Given the description of an element on the screen output the (x, y) to click on. 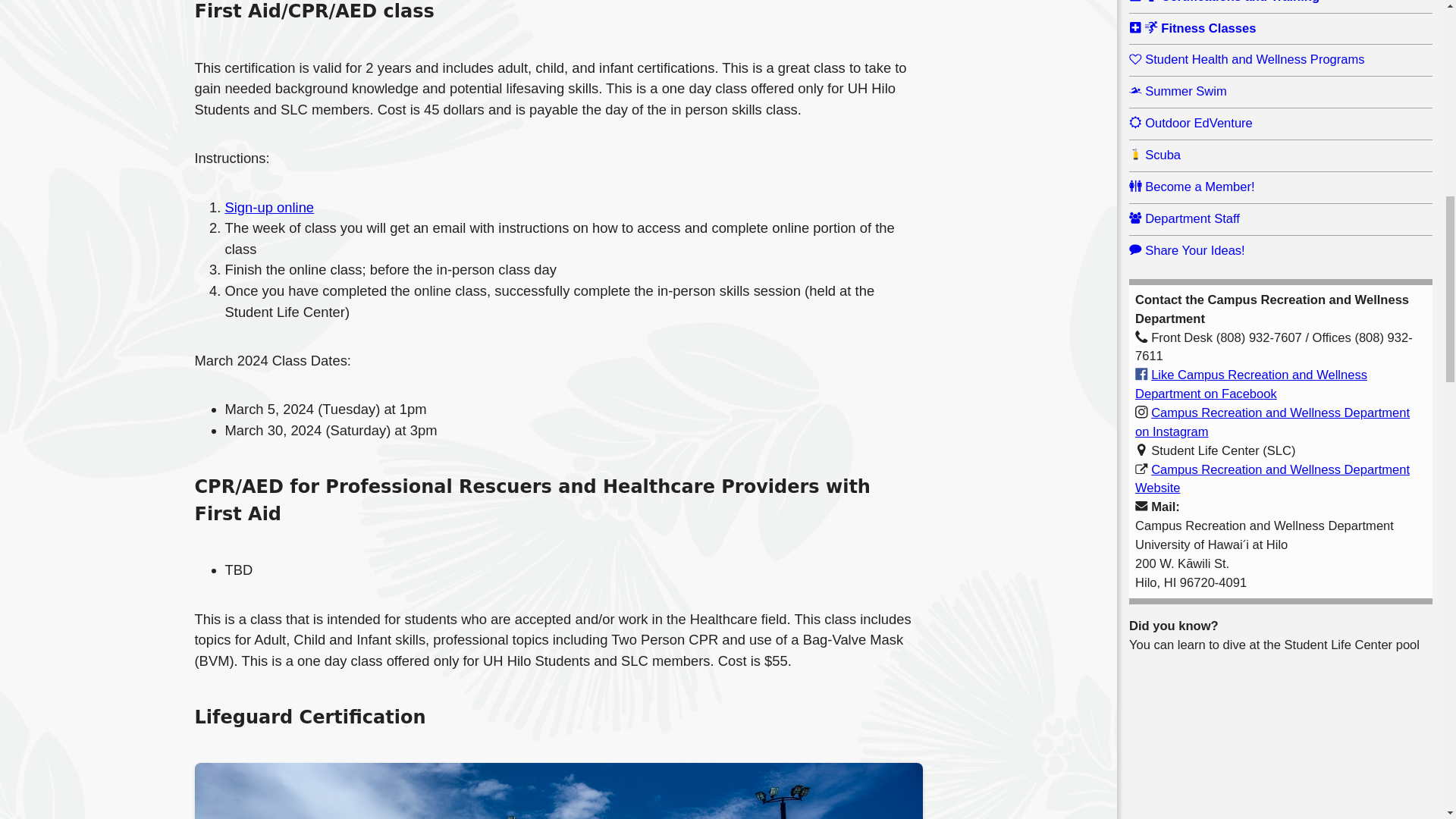
Sign-up online (269, 207)
Campus Recreation and Wellness Department Website (1272, 479)
